Given the description of an element on the screen output the (x, y) to click on. 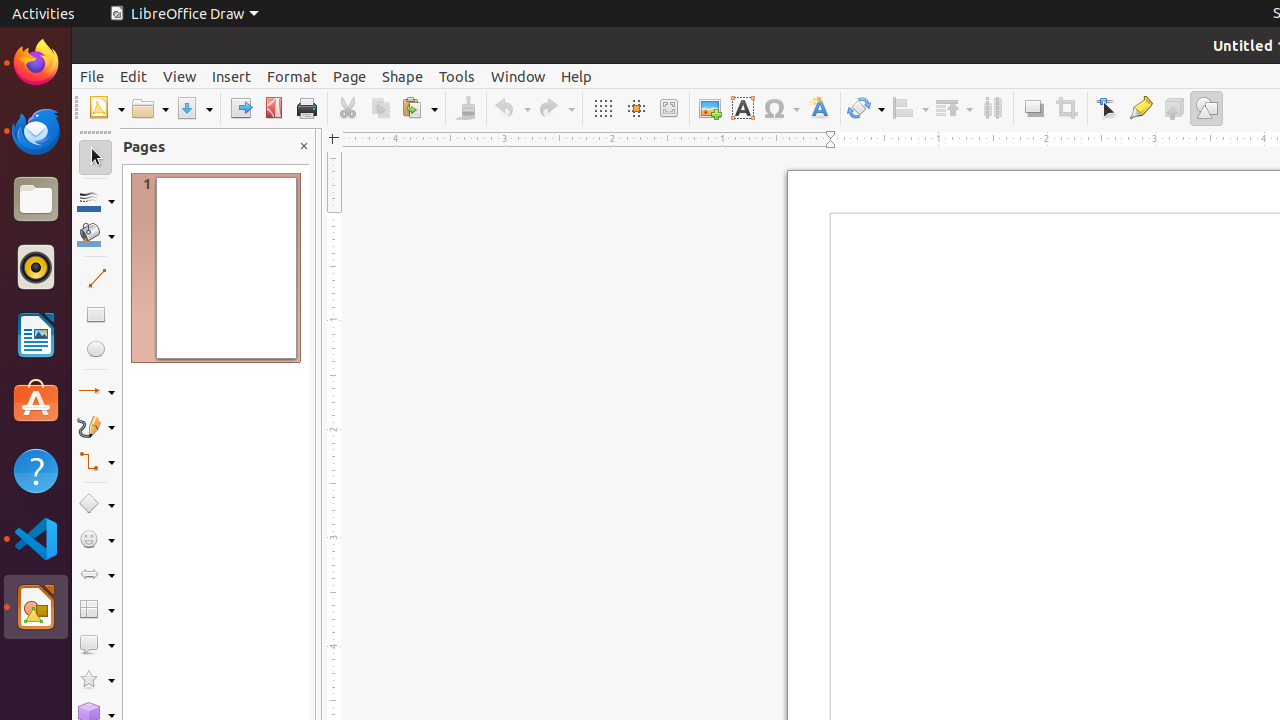
Helplines While Moving Element type: toggle-button (635, 108)
Save Element type: push-button (194, 108)
Distribution Element type: push-button (992, 108)
Text Box Element type: push-button (742, 108)
Clone Element type: push-button (465, 108)
